Given the description of an element on the screen output the (x, y) to click on. 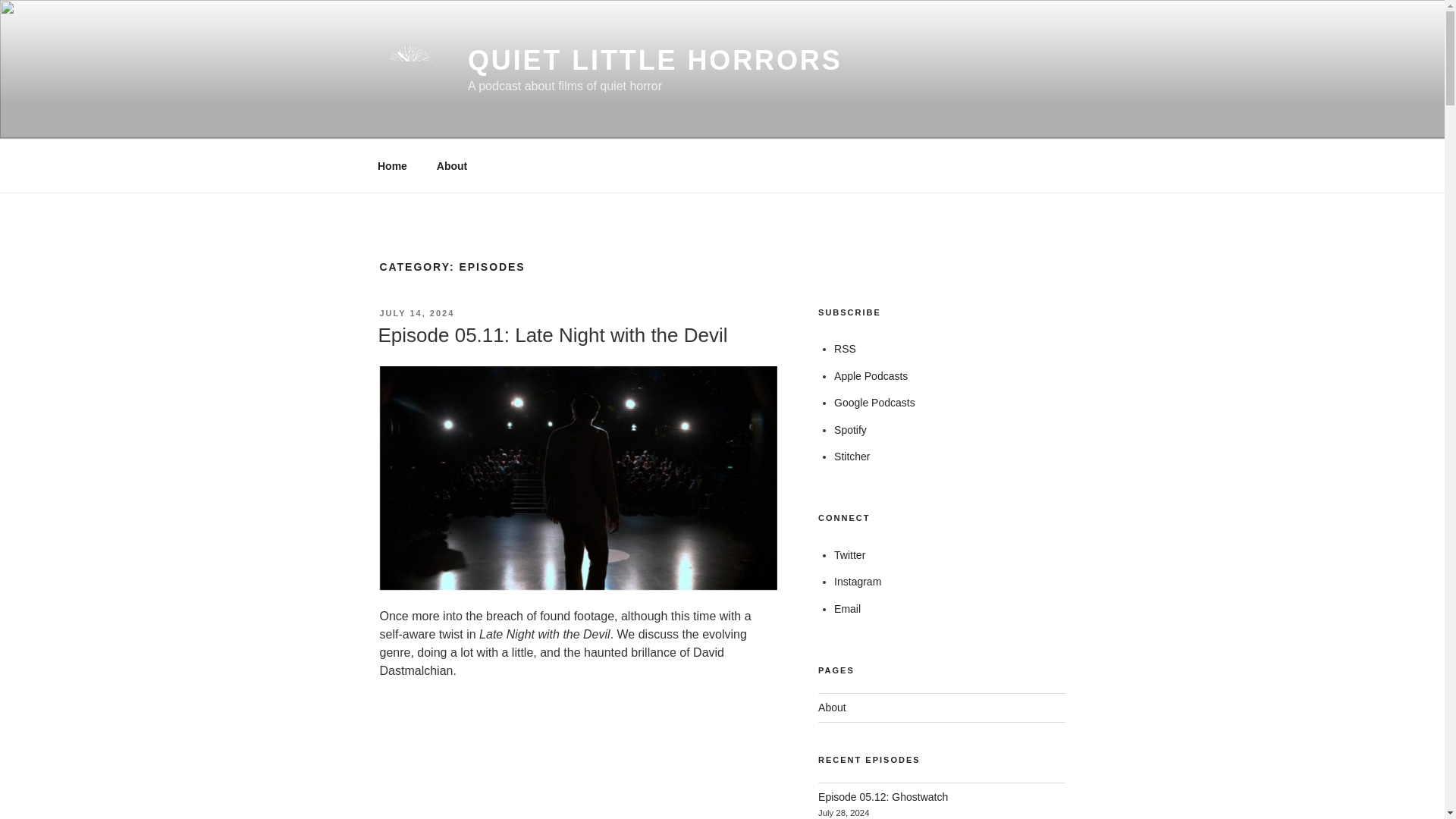
Embed Player (577, 758)
Home (392, 165)
QUIET LITTLE HORRORS (655, 60)
RSS (845, 348)
About (451, 165)
Episode 05.11: Late Night with the Devil (551, 334)
JULY 14, 2024 (416, 312)
